Given the description of an element on the screen output the (x, y) to click on. 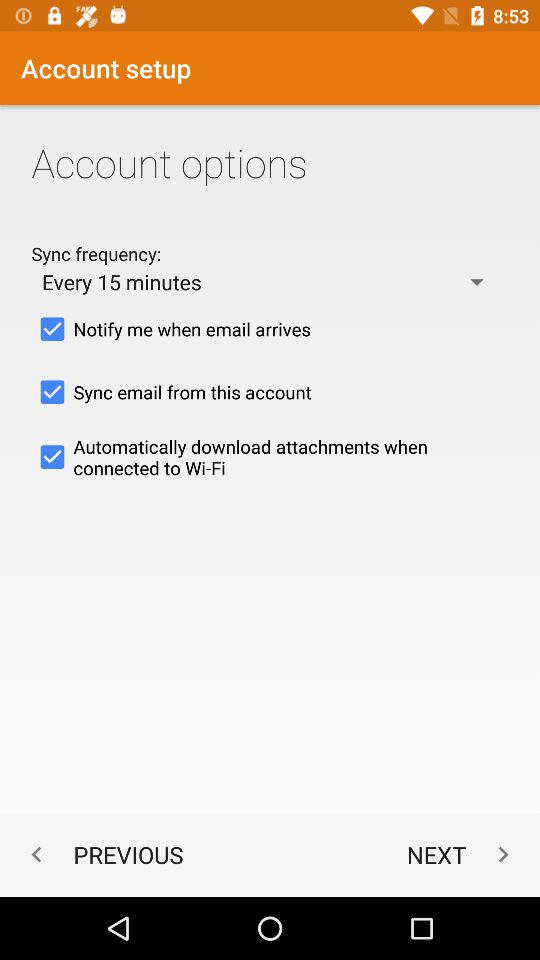
turn off the notify me when (269, 329)
